Given the description of an element on the screen output the (x, y) to click on. 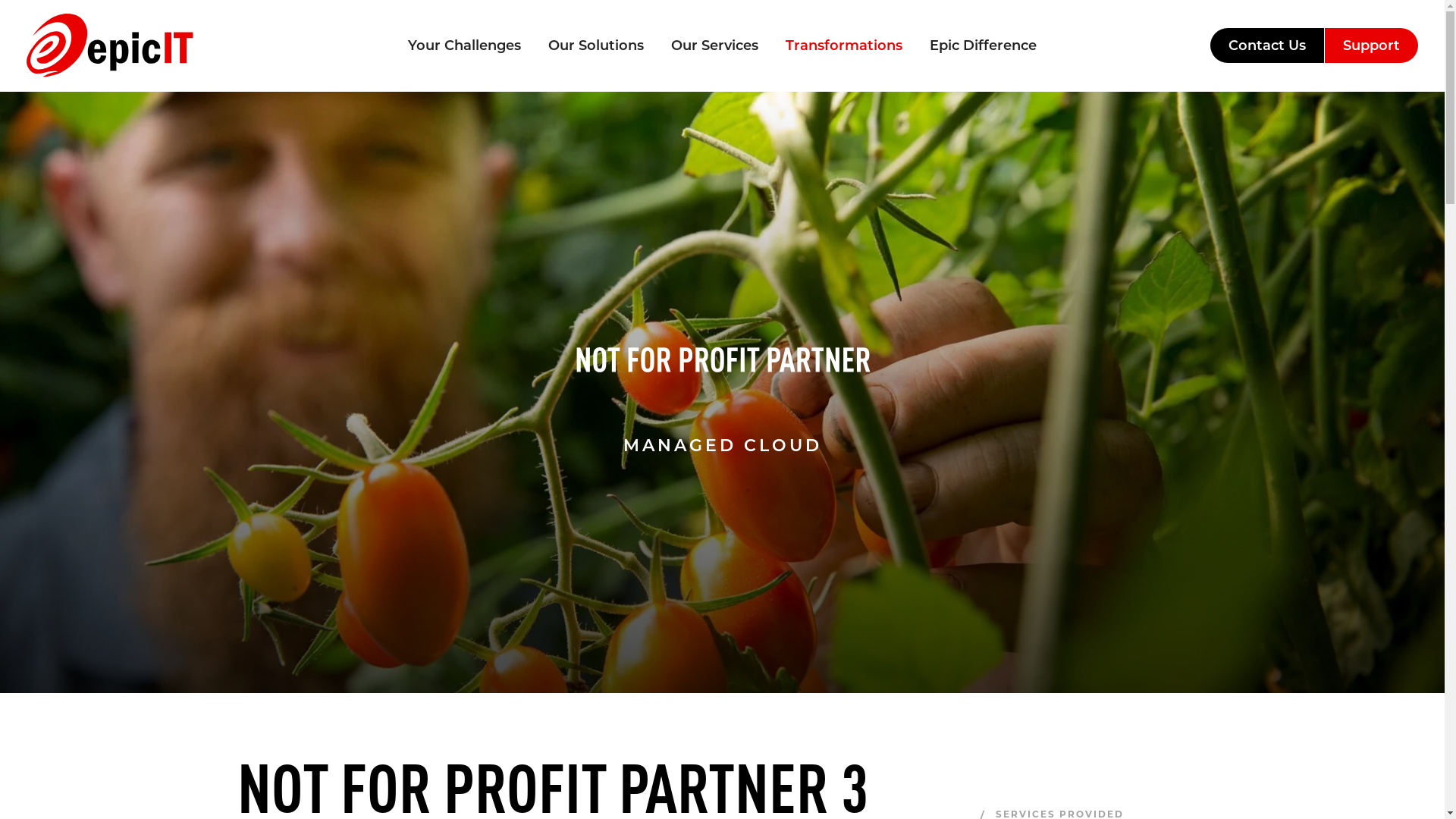
Contact Us Element type: text (1267, 45)
Support Element type: text (1371, 45)
Your Challenges Element type: text (464, 45)
Transformations Element type: text (843, 45)
Epic Difference Element type: text (983, 45)
Our Solutions Element type: text (595, 45)
Our Services Element type: text (714, 45)
